Given the description of an element on the screen output the (x, y) to click on. 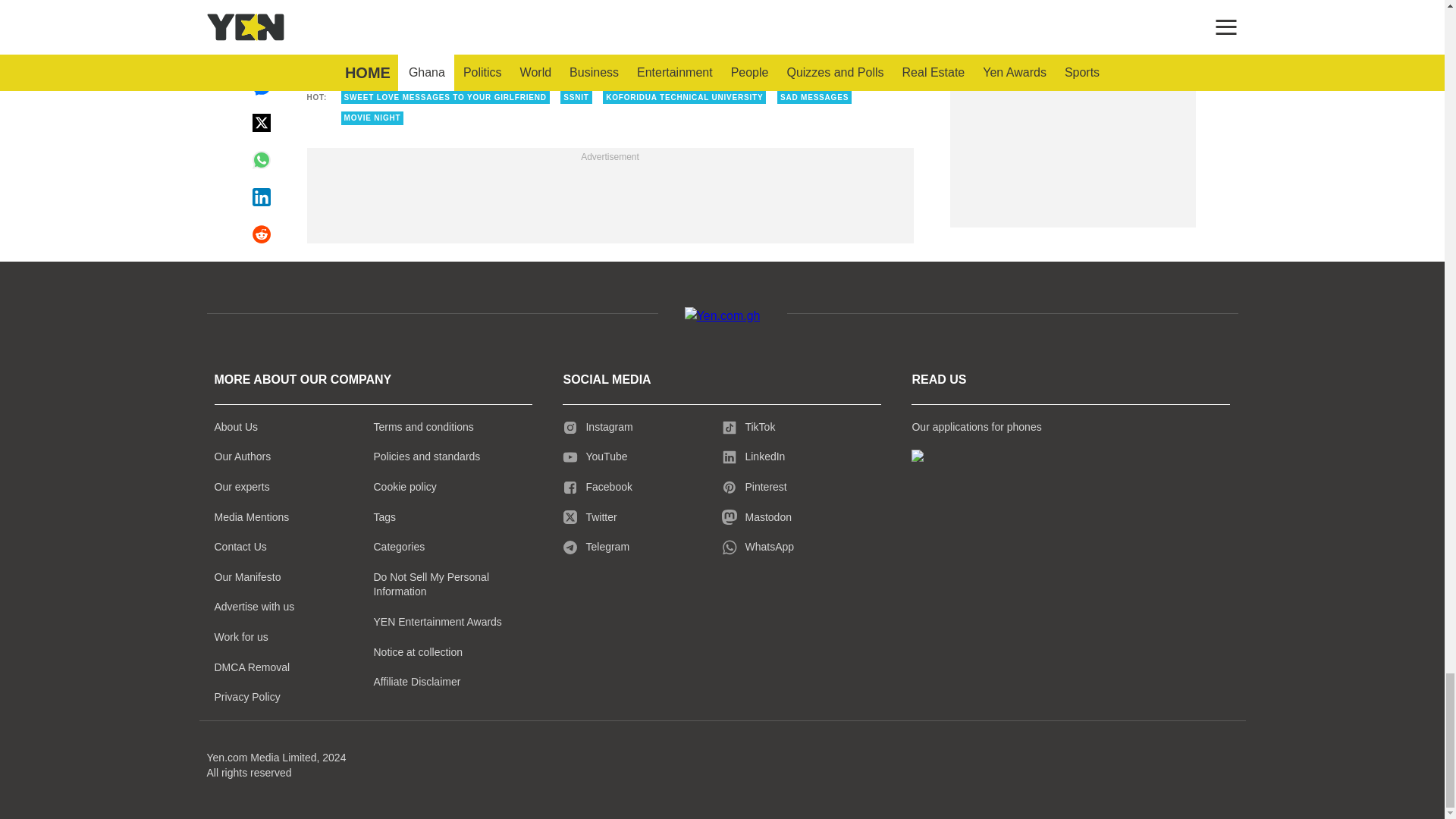
Author page (533, 20)
